Given the description of an element on the screen output the (x, y) to click on. 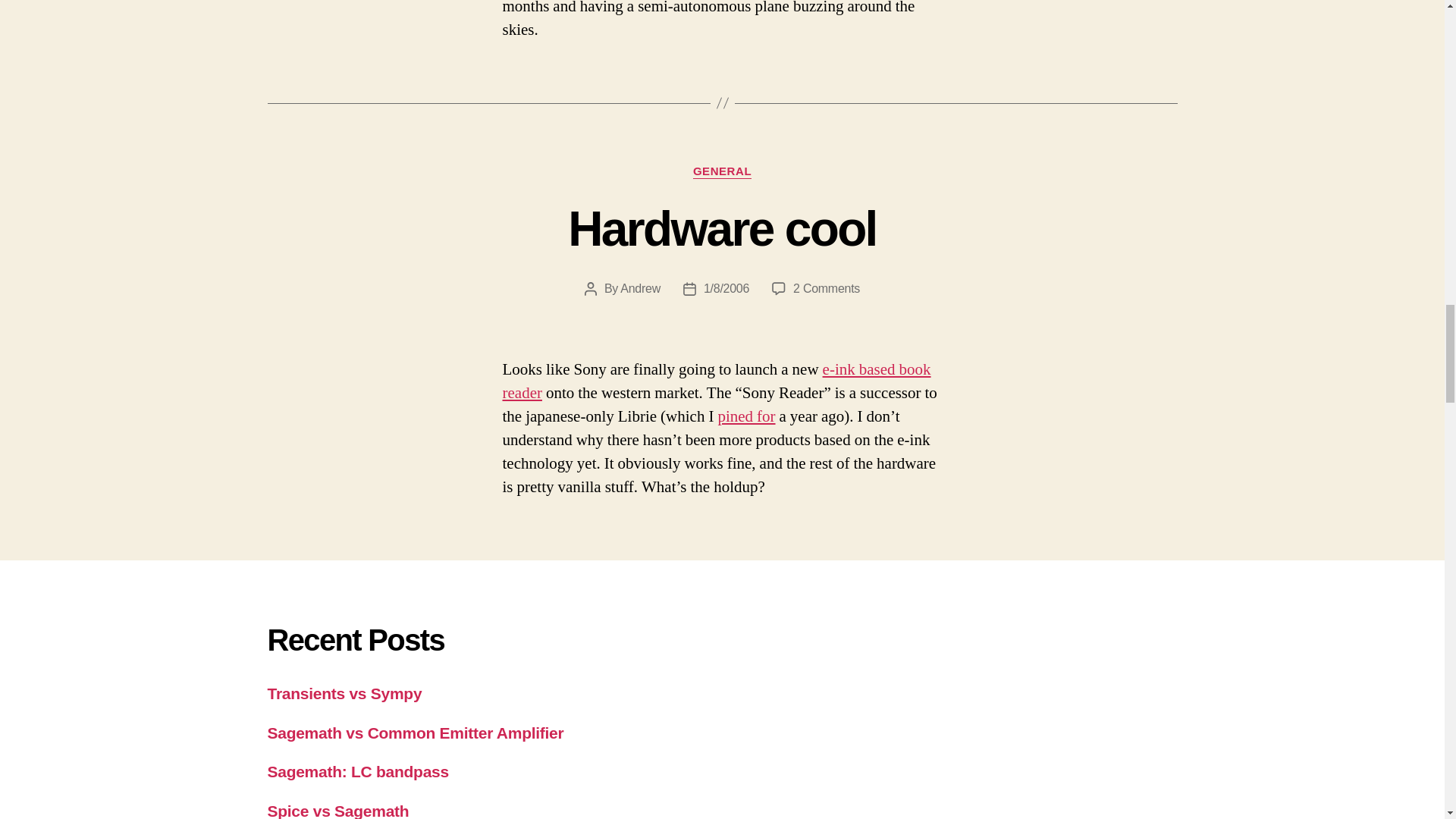
Sagemath: LC bandpass (357, 771)
Transients vs Sympy (344, 692)
pined for (826, 287)
GENERAL (745, 416)
Spice vs Sagemath (722, 171)
Sagemath vs Common Emitter Amplifier (337, 810)
Andrew (414, 732)
e-ink based book reader (640, 287)
Hardware cool (716, 381)
